Given the description of an element on the screen output the (x, y) to click on. 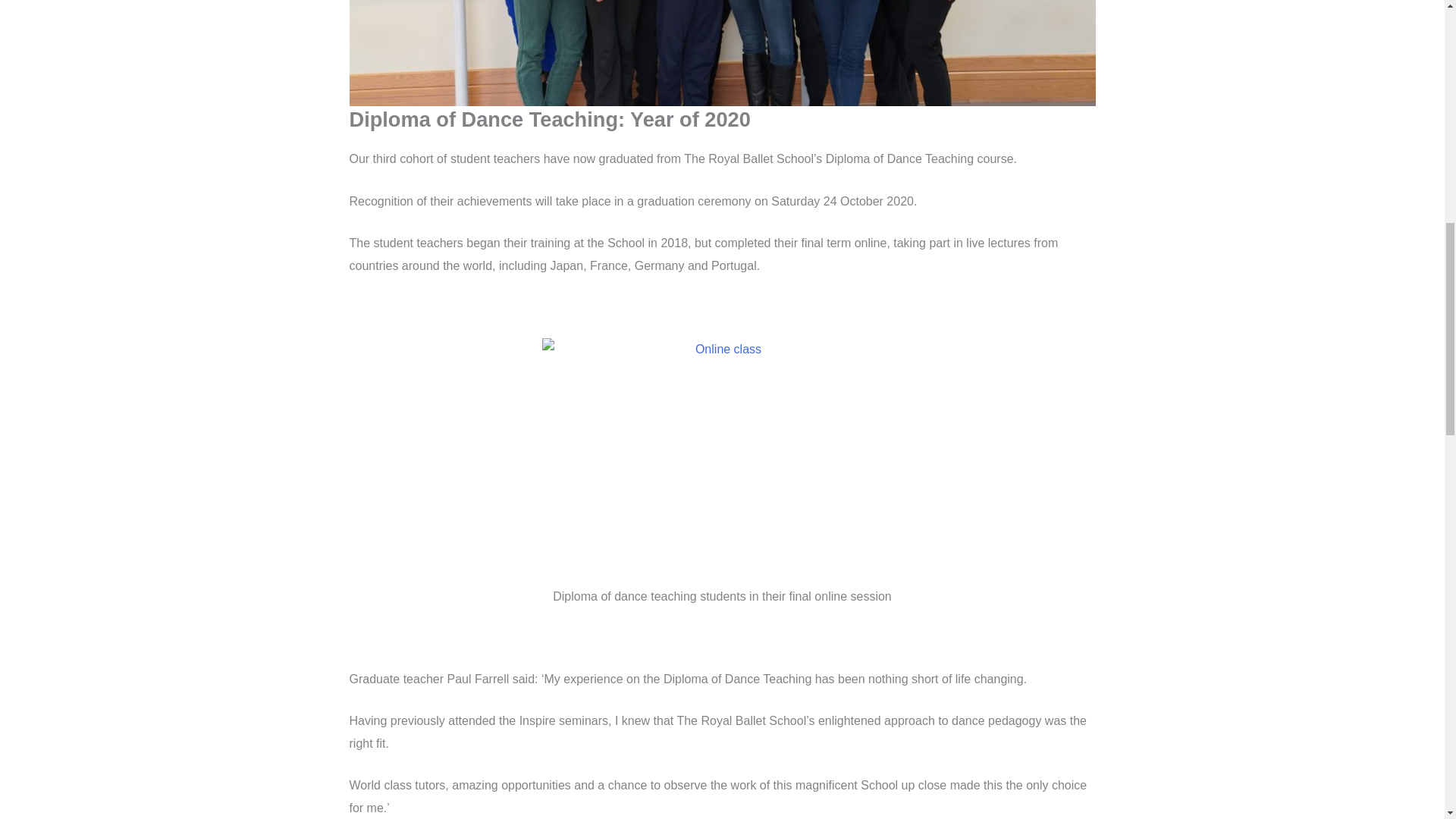
Diploma of dance teaching: year of 2020 (721, 456)
Diploma of dance teaching: year of 2020 (721, 53)
